Given the description of an element on the screen output the (x, y) to click on. 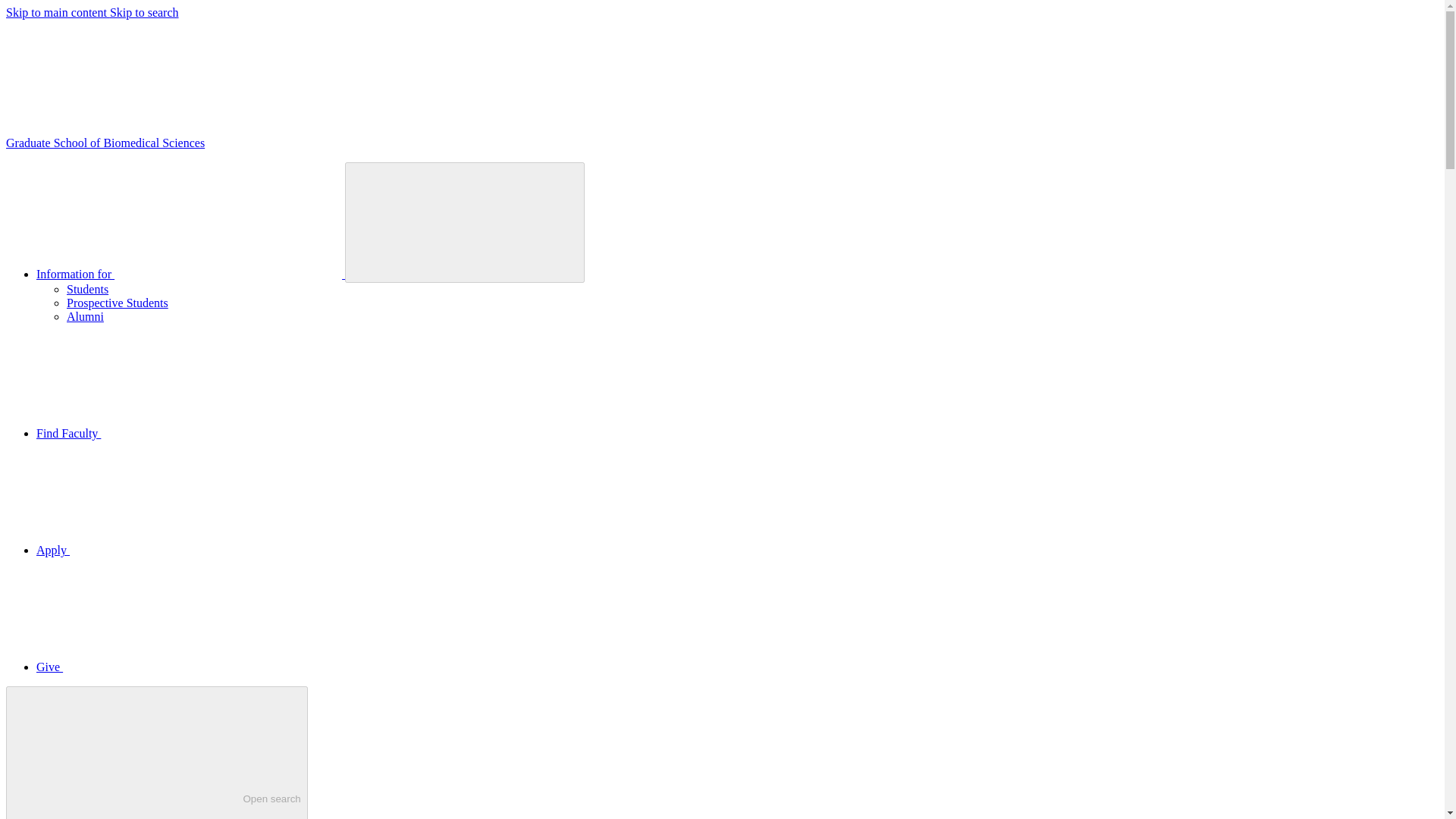
Skip to main content (57, 11)
Alumni (84, 316)
Students (86, 288)
Graduate School of Biomedical Sciences (105, 142)
Give (156, 752)
Skip to search (162, 666)
Find Faculty (144, 11)
Information for (182, 432)
Apply (190, 273)
Prospective Students (166, 549)
